Given the description of an element on the screen output the (x, y) to click on. 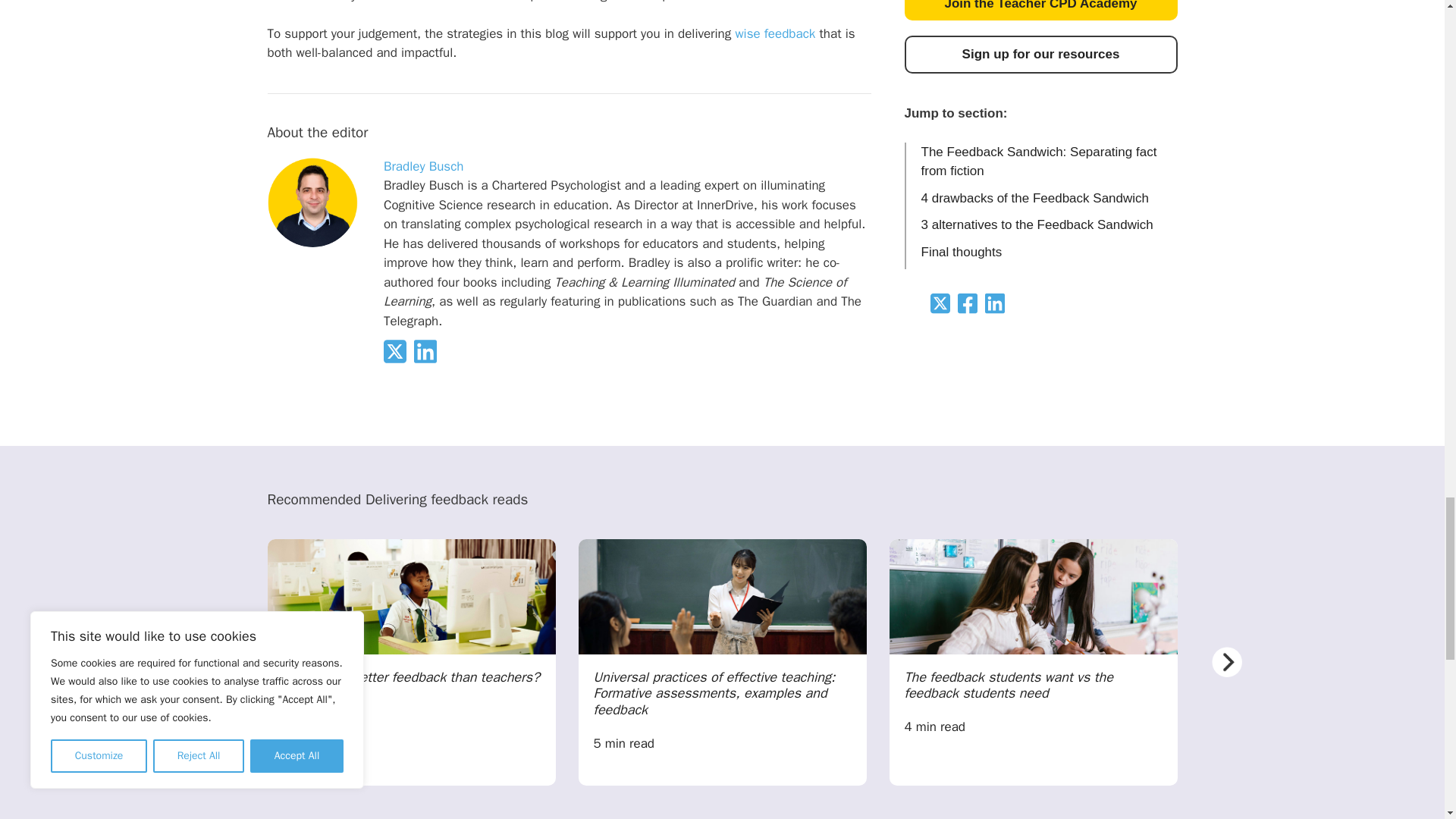
Follow Is it time to abandon the Feedback Sandwich? on X (398, 359)
